Given the description of an element on the screen output the (x, y) to click on. 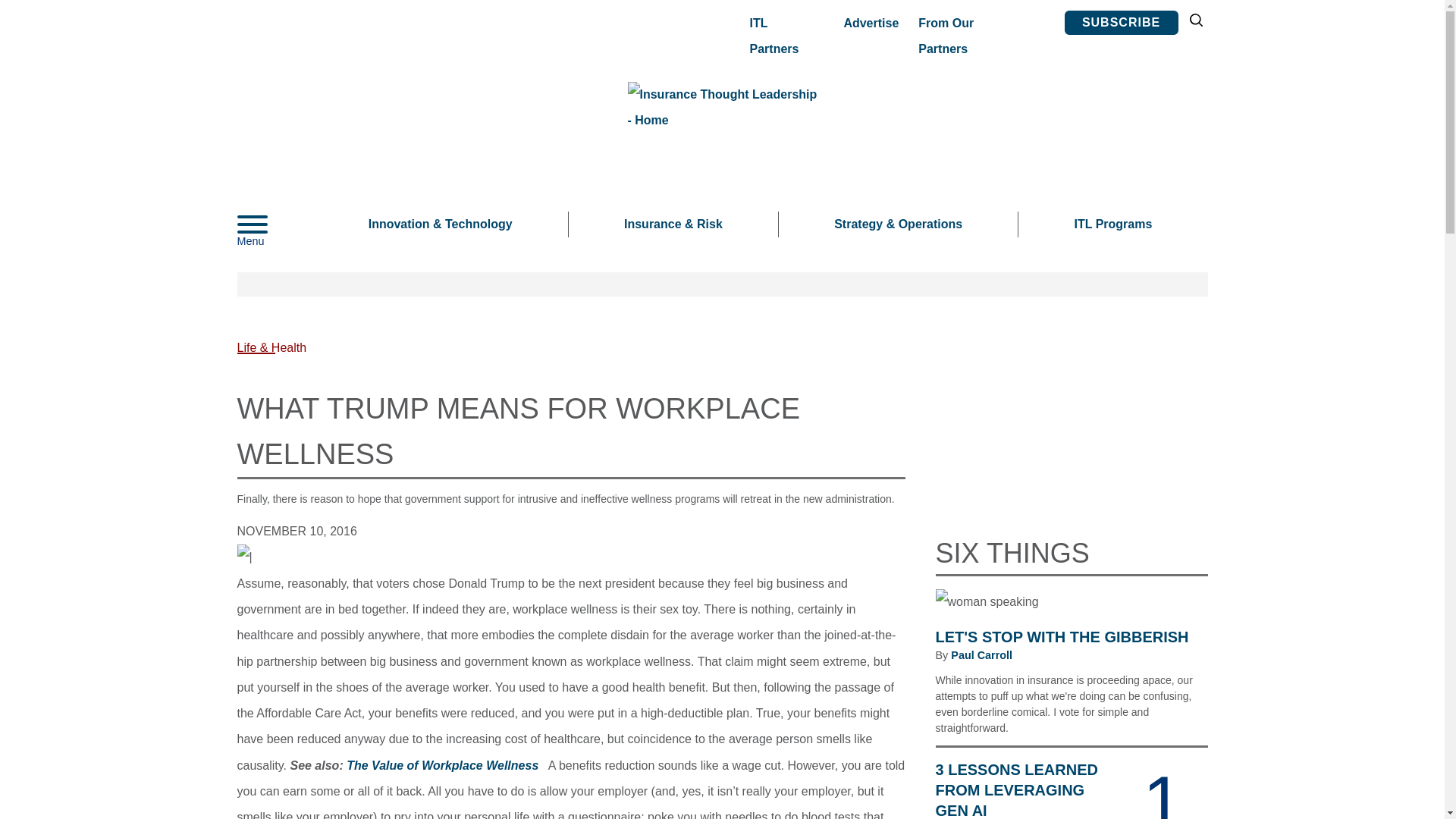
Menu (274, 224)
From Our Partners (971, 36)
SUBSCRIBE (1120, 22)
Advertise (870, 23)
ITL Partners (782, 36)
ITL Programs (1112, 224)
